Given the description of an element on the screen output the (x, y) to click on. 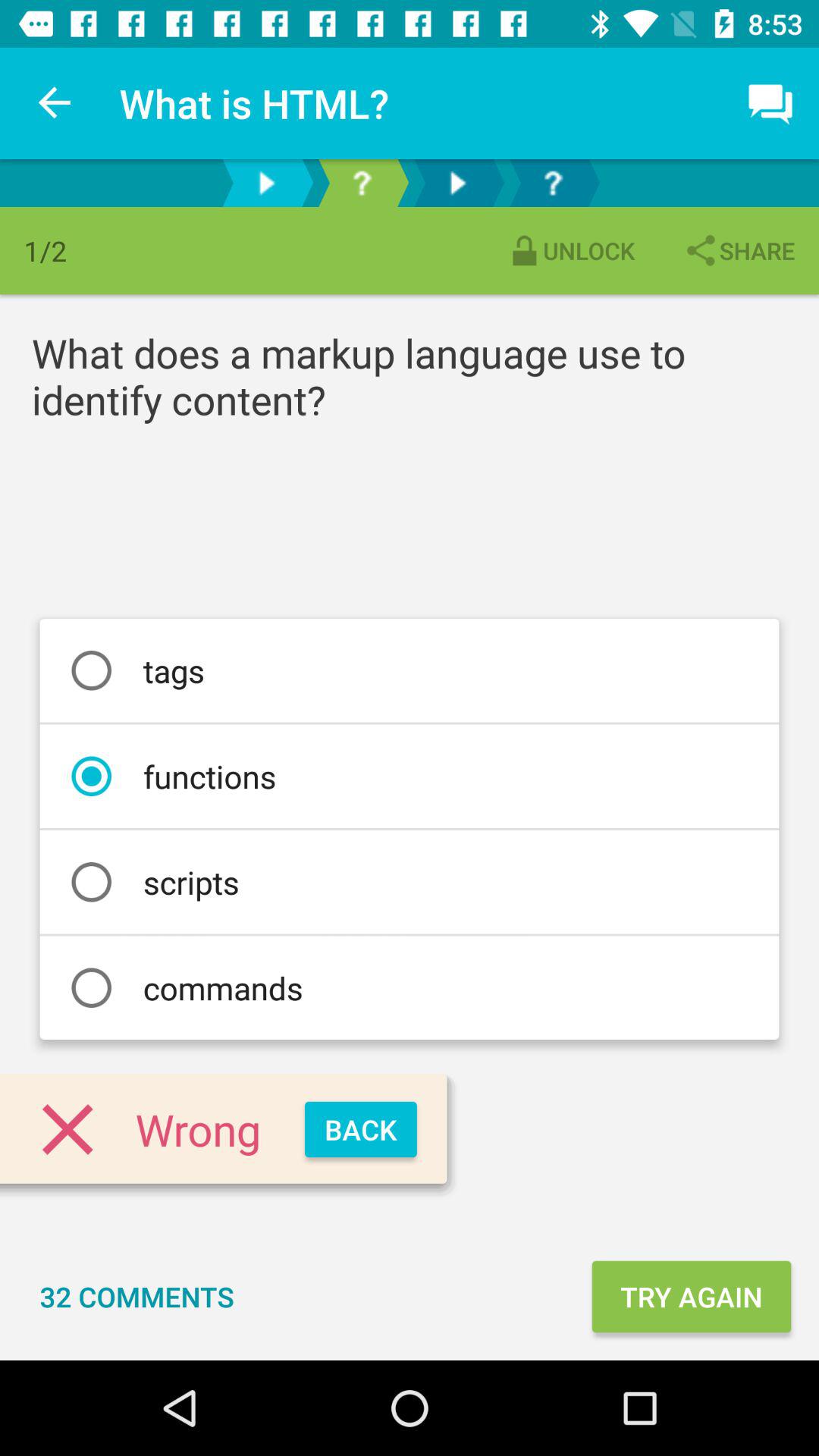
jump to the share (738, 250)
